Given the description of an element on the screen output the (x, y) to click on. 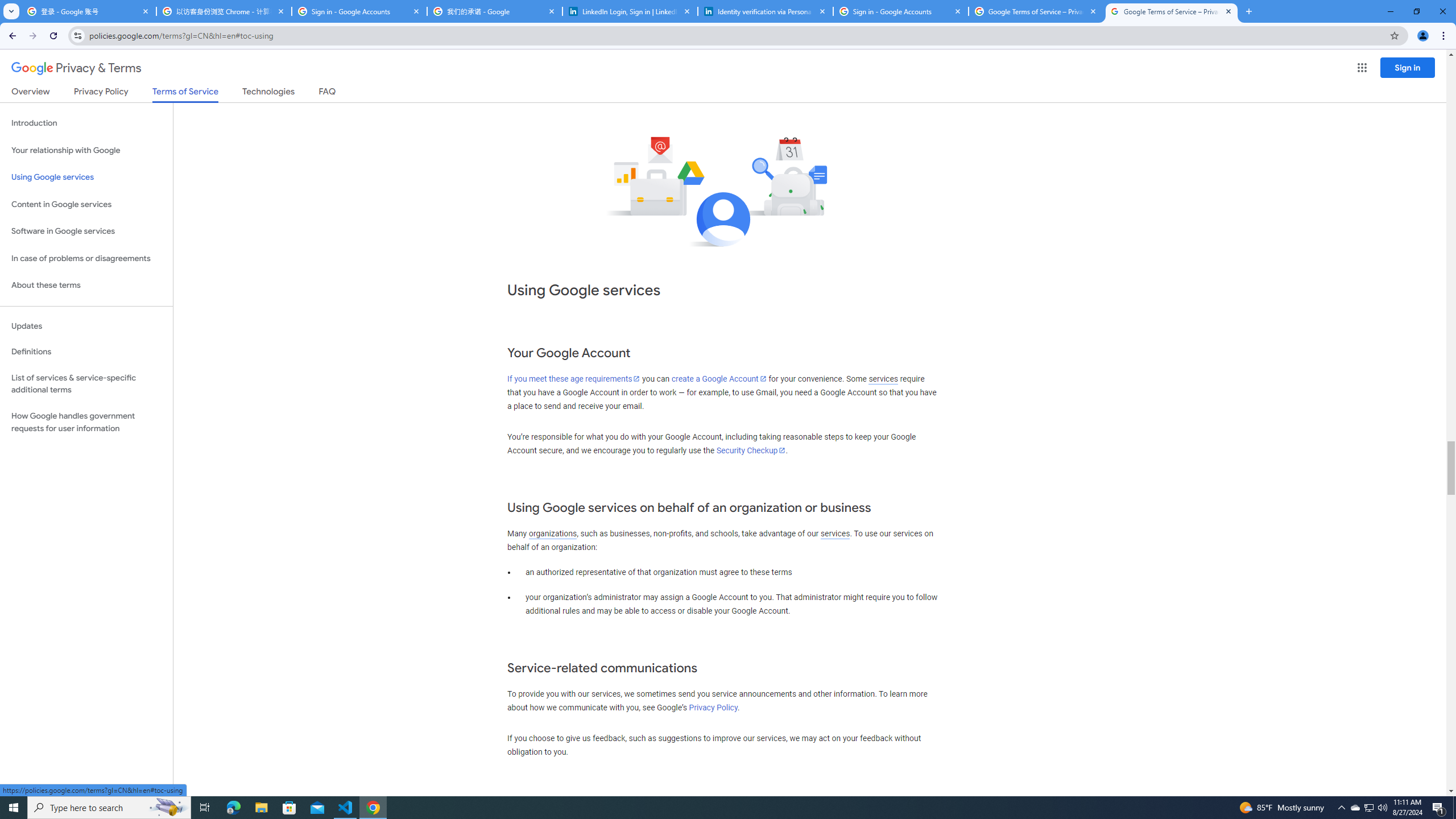
Introduction (86, 122)
LinkedIn Login, Sign in | LinkedIn (630, 11)
Definitions (86, 352)
List of services & service-specific additional terms (86, 383)
About these terms (86, 284)
If you meet these age requirements (573, 378)
